Given the description of an element on the screen output the (x, y) to click on. 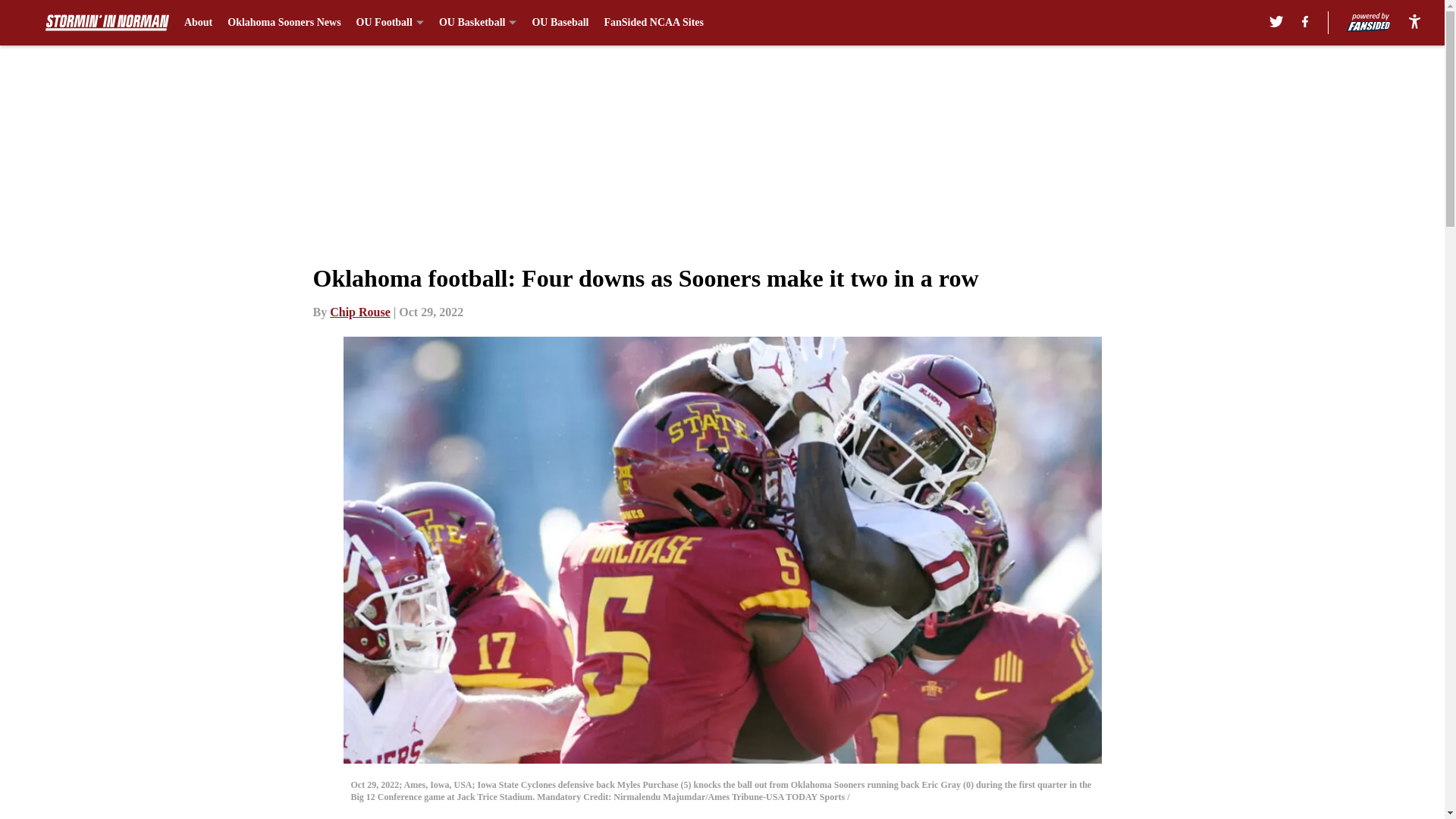
Chip Rouse (360, 311)
About (198, 22)
OU Baseball (559, 22)
FanSided NCAA Sites (653, 22)
Oklahoma Sooners News (283, 22)
